Given the description of an element on the screen output the (x, y) to click on. 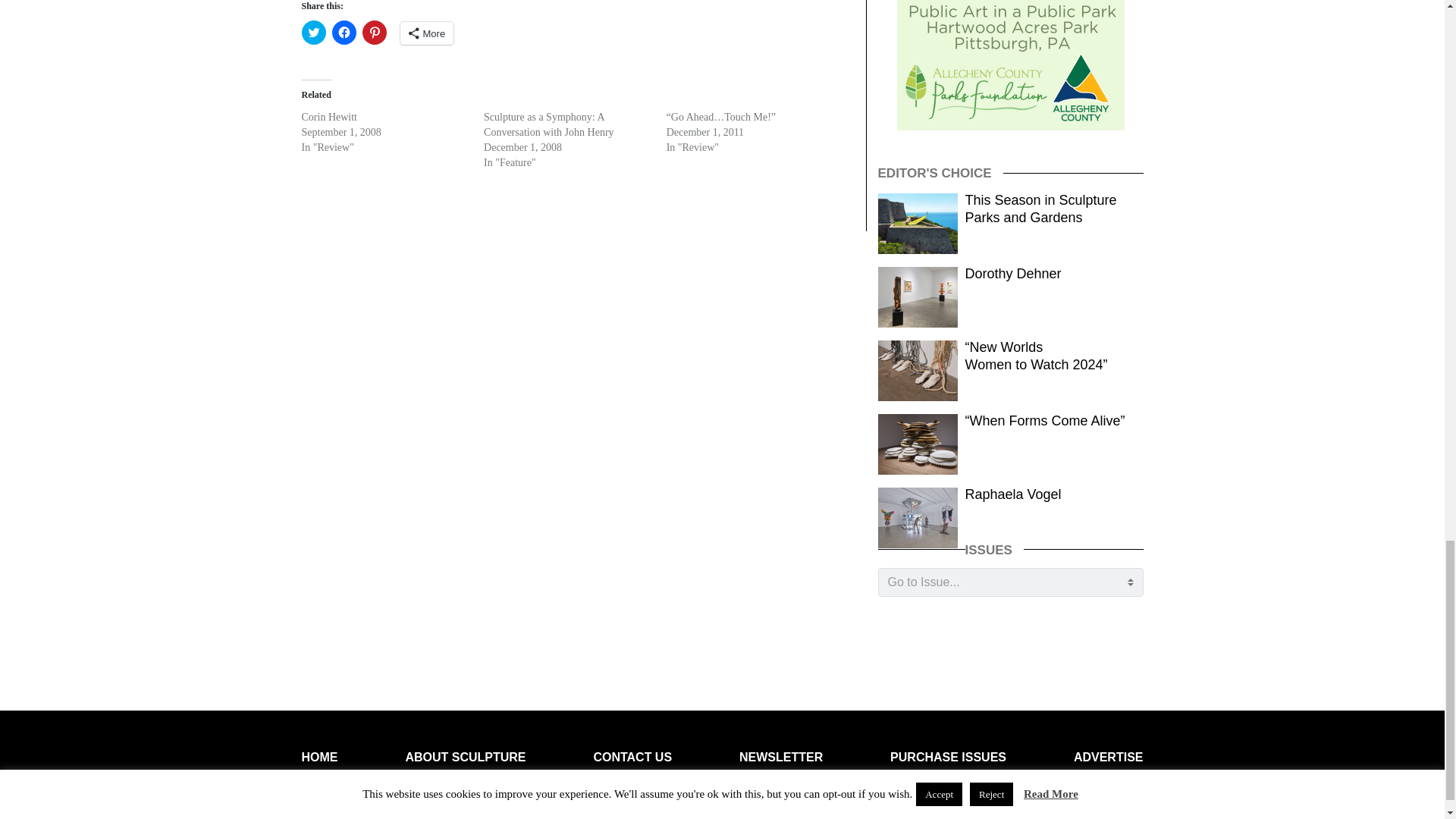
Dorothy Dehner (1013, 273)
Sculpture as a Symphony: A Conversation with John Henry (547, 123)
Click to share on Pinterest (374, 32)
This Season in Sculpture Parks and Gardens (1040, 208)
Corin Hewitt (329, 116)
More (427, 33)
Click to share on Twitter (313, 32)
Click to share on Facebook (343, 32)
